Given the description of an element on the screen output the (x, y) to click on. 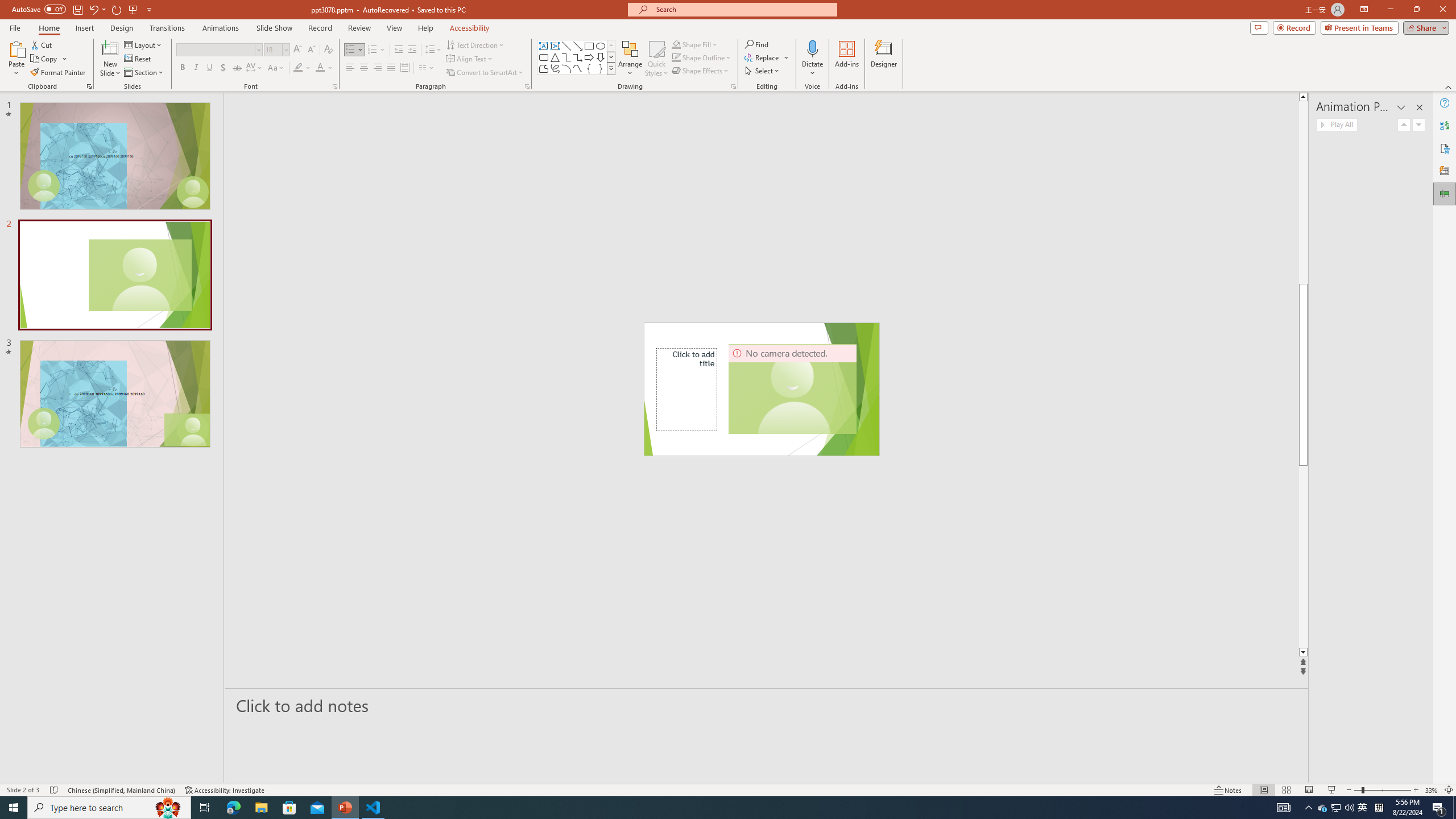
Move Down (1418, 124)
